Given the description of an element on the screen output the (x, y) to click on. 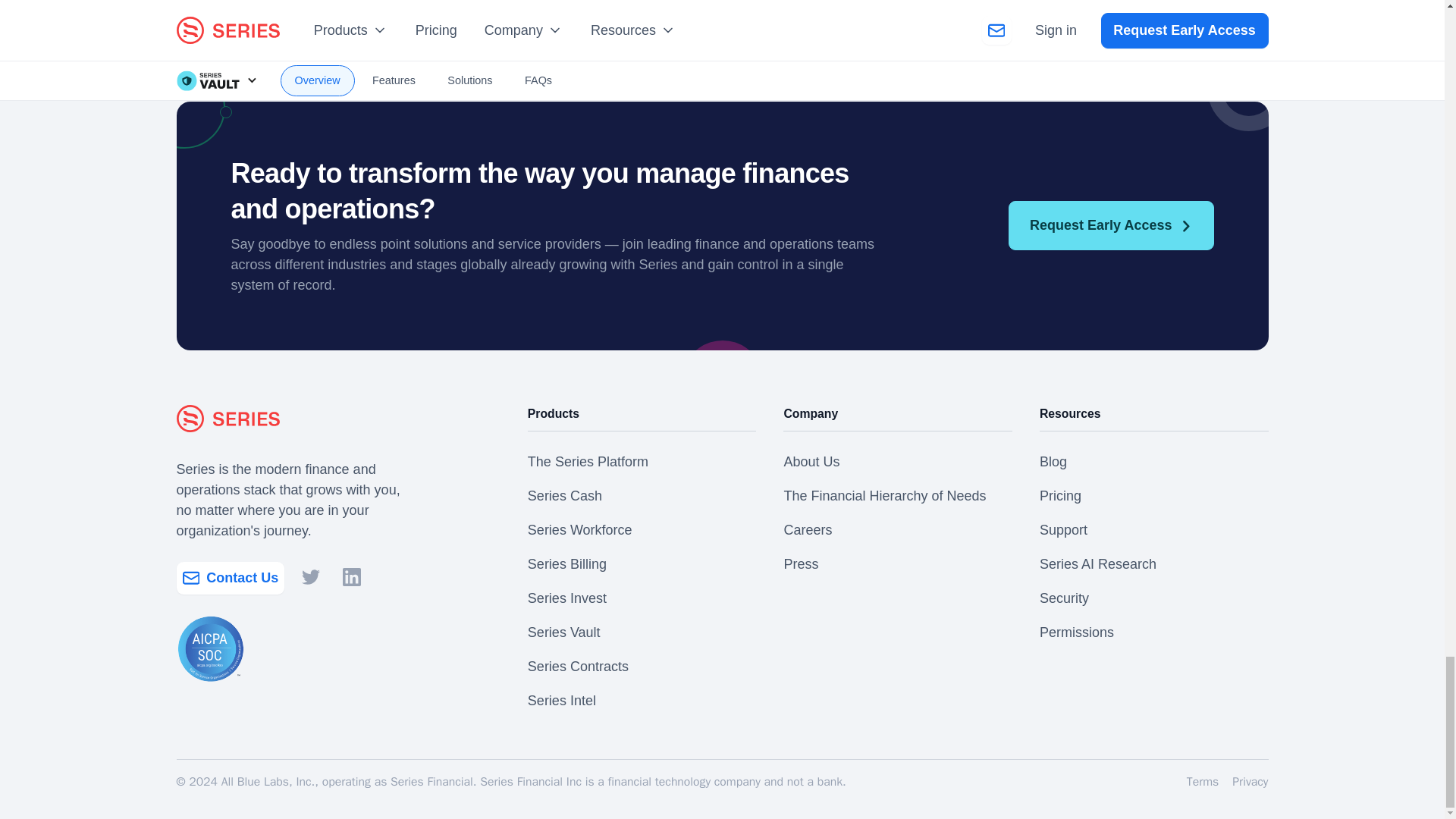
Request Early Access (1110, 225)
